Given the description of an element on the screen output the (x, y) to click on. 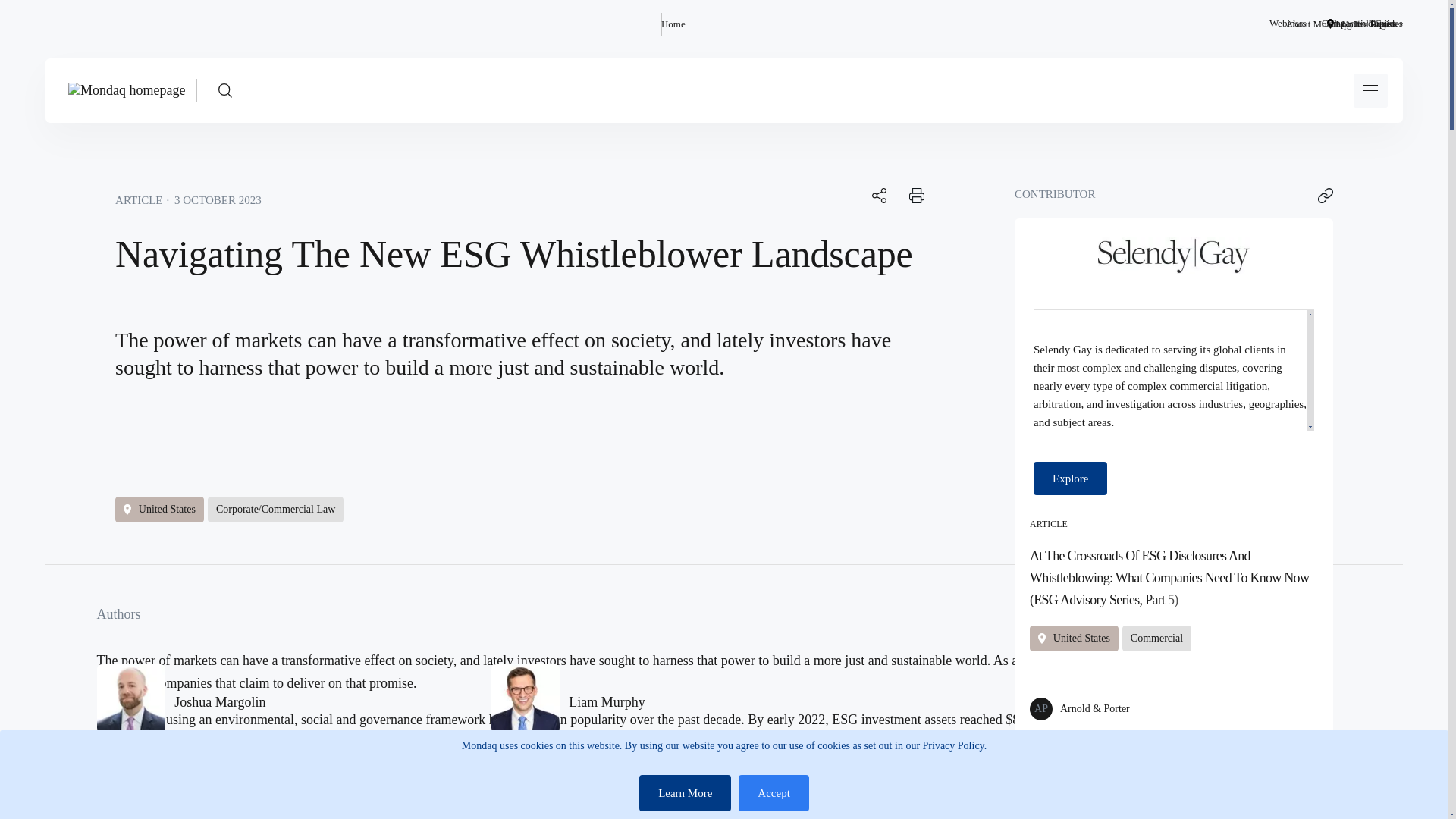
Home (673, 24)
Comparative Guides (1362, 23)
Webinars (1287, 23)
About Mondaq (1315, 24)
